Given the description of an element on the screen output the (x, y) to click on. 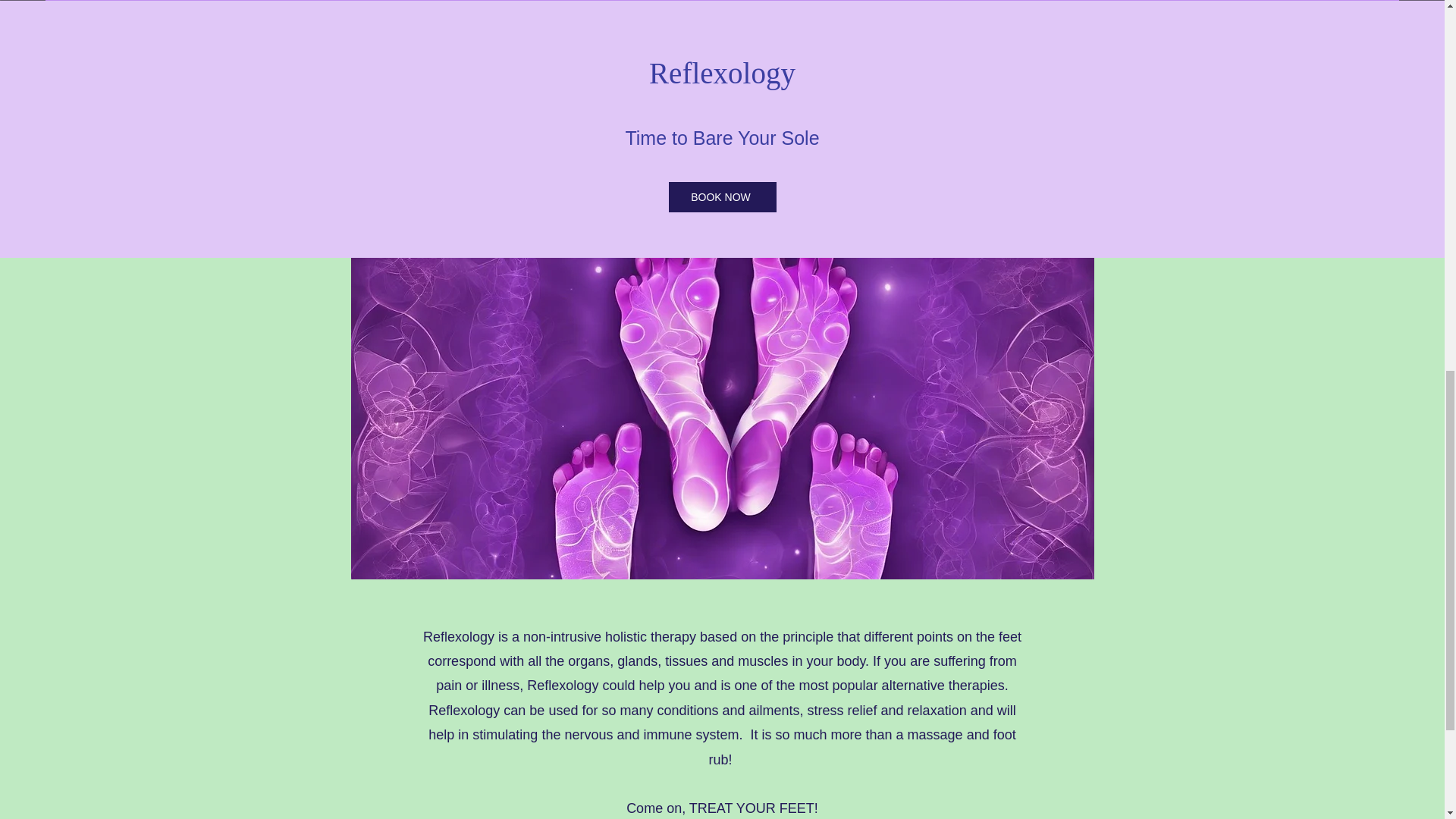
BOOK NOW (722, 196)
